Given the description of an element on the screen output the (x, y) to click on. 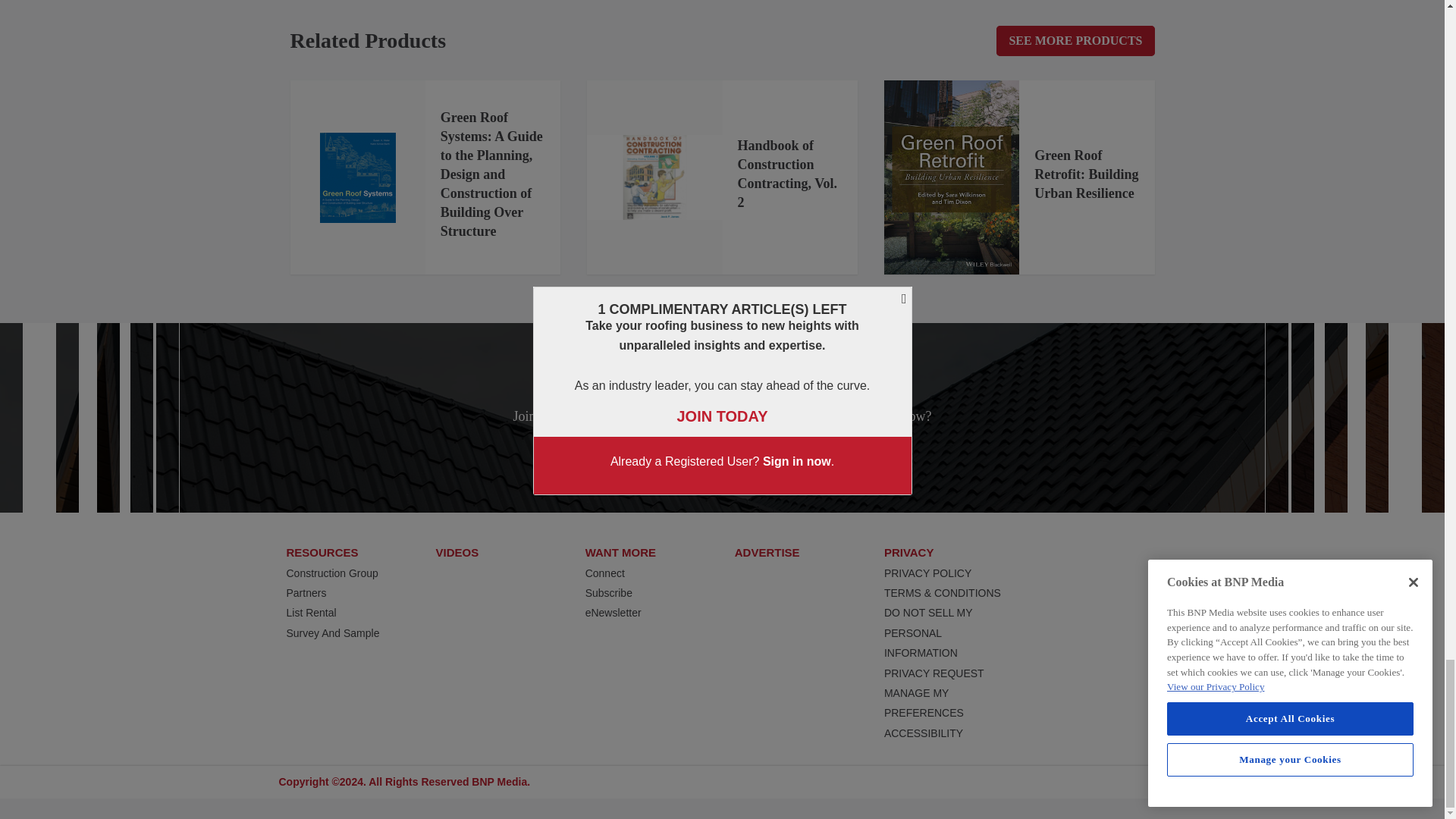
cc2.png (654, 177)
